Given the description of an element on the screen output the (x, y) to click on. 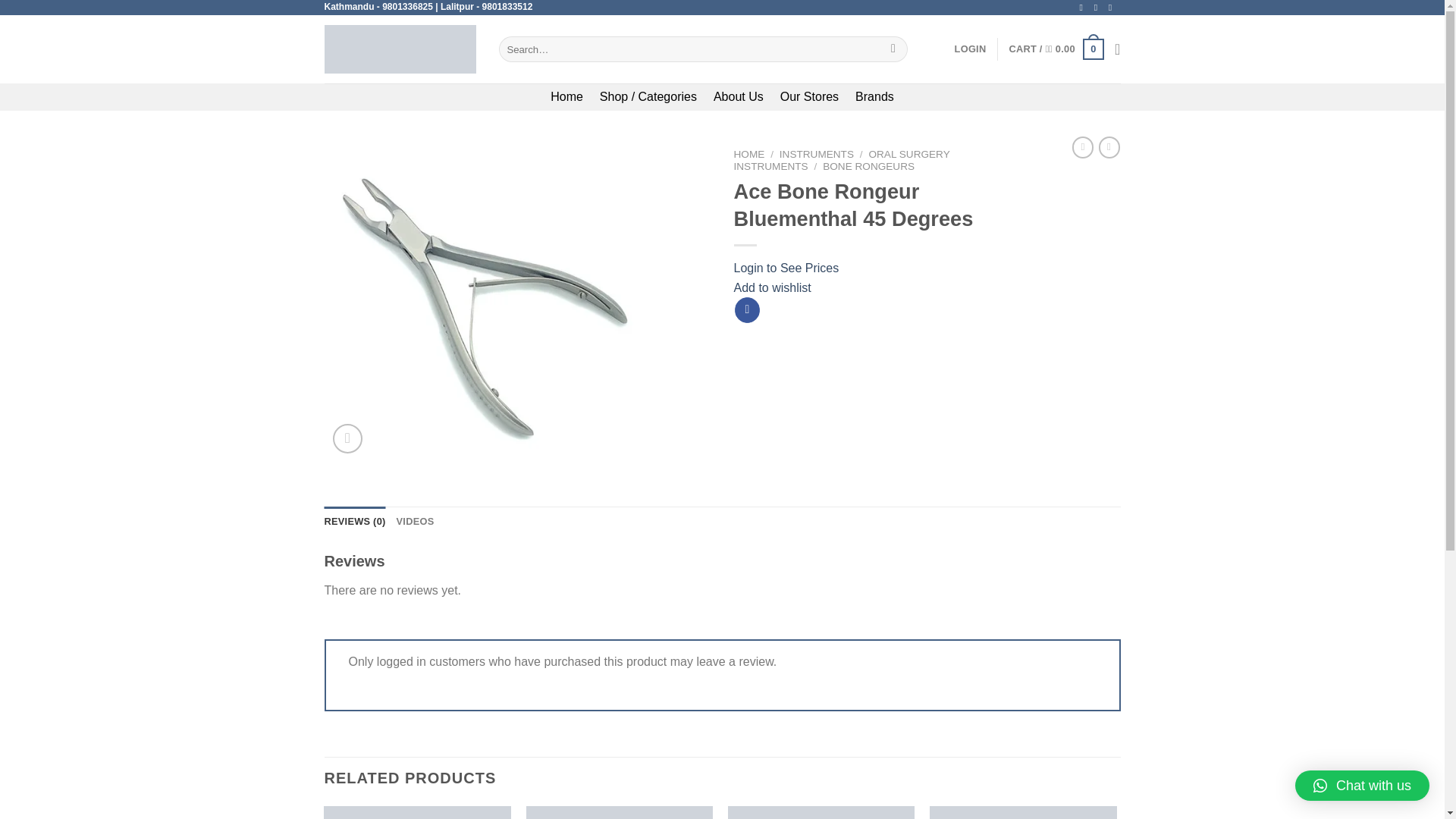
Share on Facebook (747, 309)
HOME (749, 153)
Search (892, 49)
Garima Dental Suppliers - Dental Suppliers for Nepal Only (400, 48)
Login to See Prices (786, 267)
Zoom (347, 438)
INSTRUMENTS (815, 153)
ORAL SURGERY INSTRUMENTS (841, 159)
About Us (737, 96)
Our Stores (809, 96)
